Given the description of an element on the screen output the (x, y) to click on. 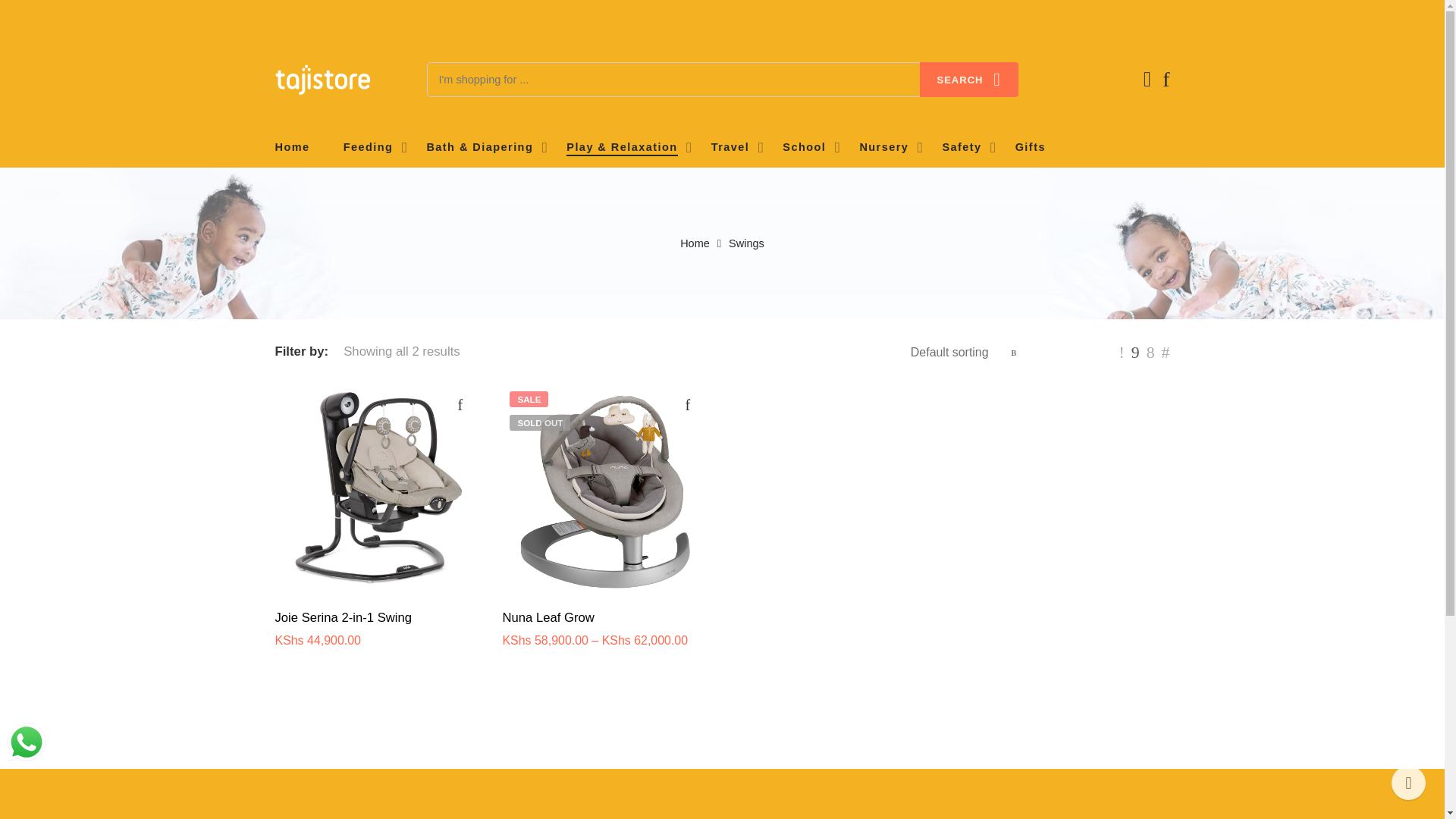
Travel (730, 147)
Feeding (368, 147)
SEARCH (968, 79)
School (804, 147)
Feeding (368, 147)
